Given the description of an element on the screen output the (x, y) to click on. 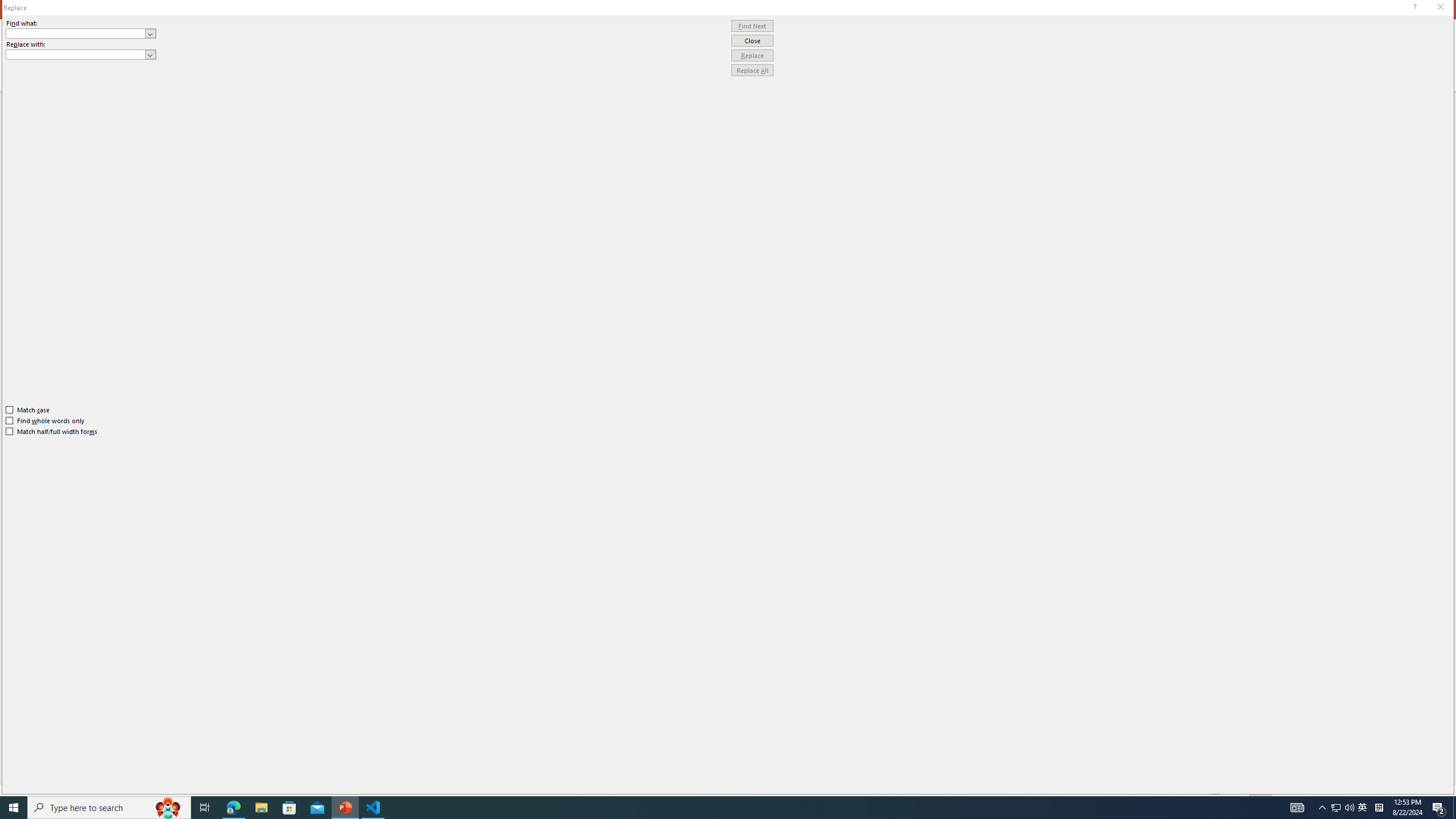
Class: NetUIScrollBar (1441, 447)
